Given the description of an element on the screen output the (x, y) to click on. 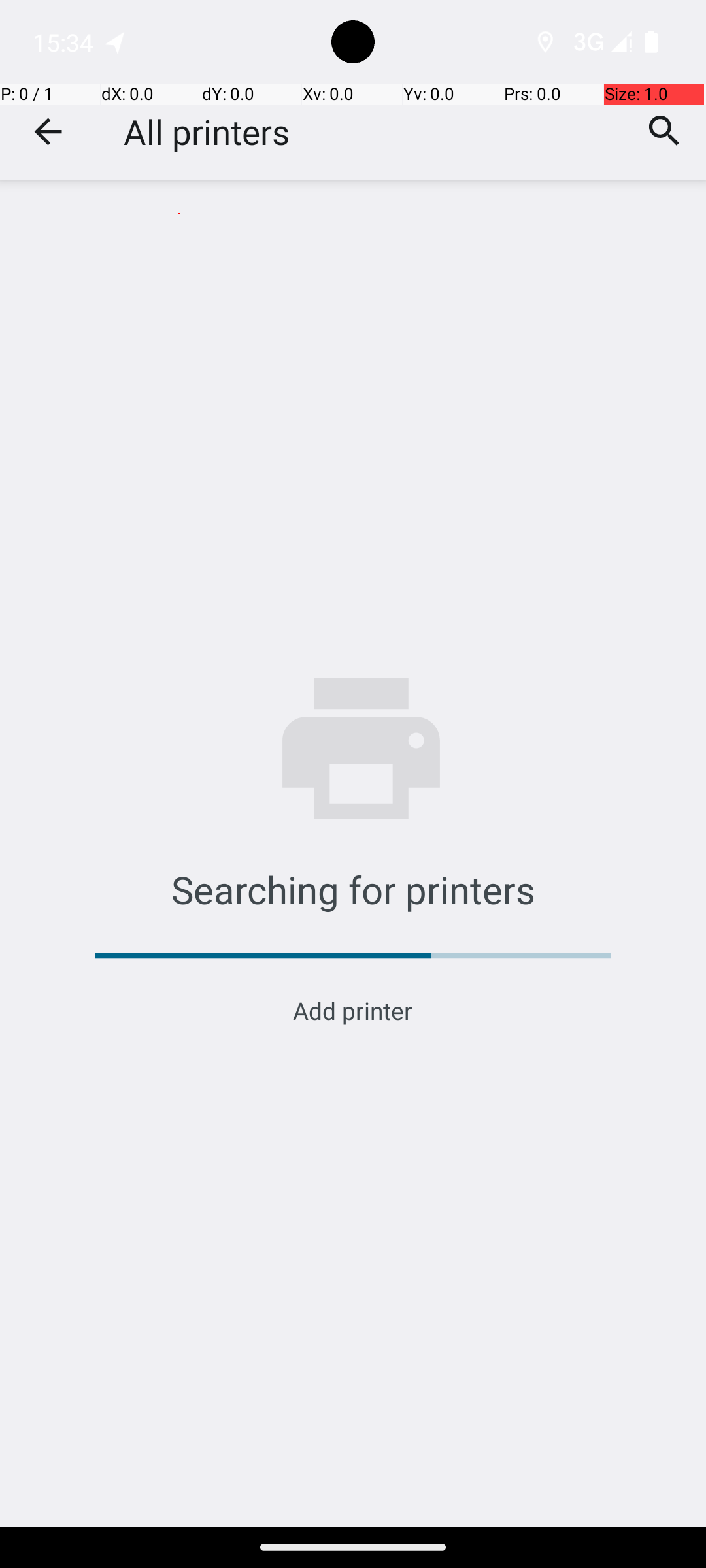
All printers Element type: android.widget.TextView (206, 131)
Searching for printers Element type: android.widget.TextView (352, 888)
Add printer Element type: android.widget.Button (352, 1010)
